Given the description of an element on the screen output the (x, y) to click on. 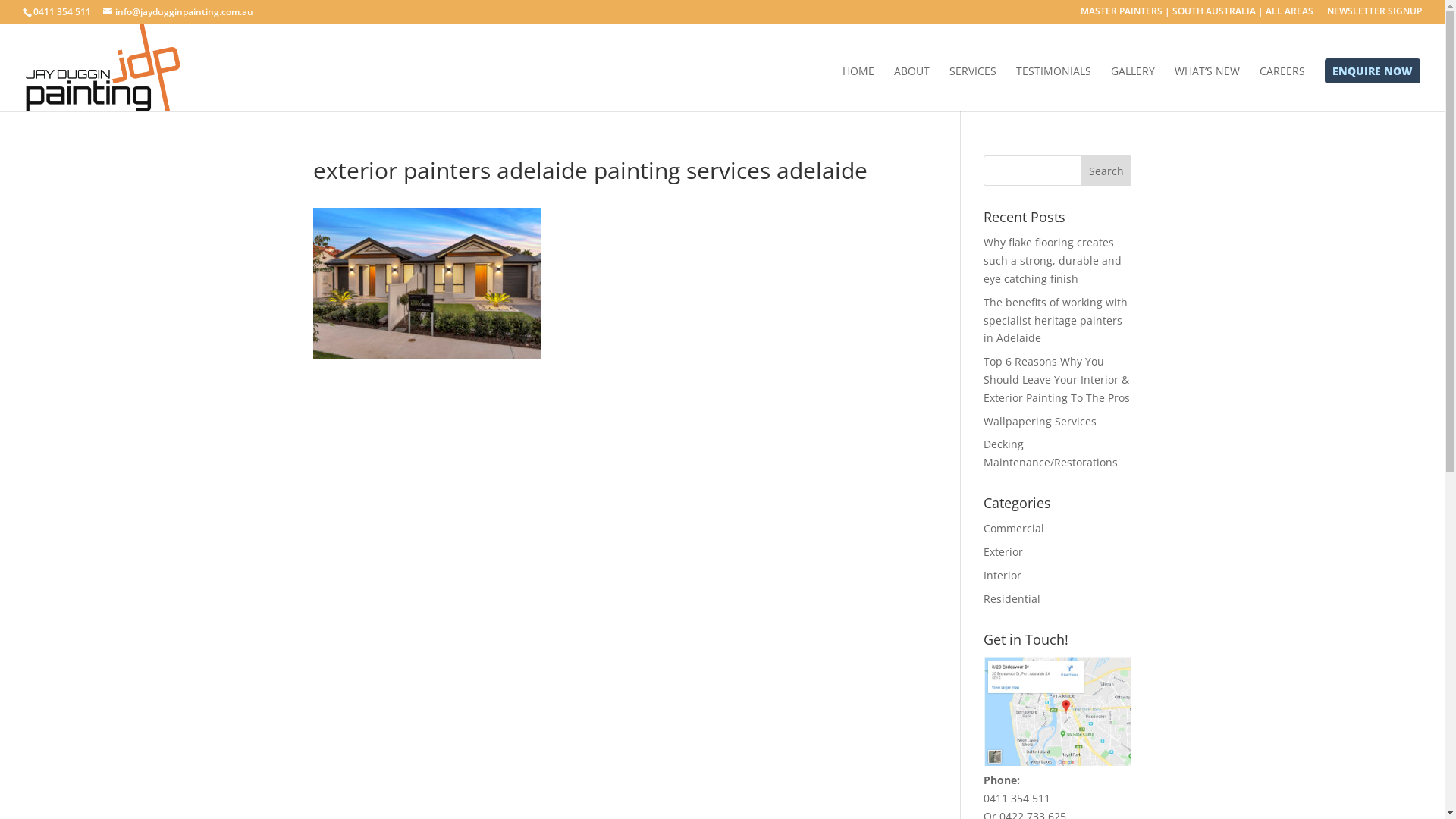
ENQUIRE NOW Element type: text (1372, 88)
info@jaydugginpainting.com.au Element type: text (178, 11)
HOME Element type: text (858, 88)
GALLERY Element type: text (1132, 88)
Decking Maintenance/Restorations Element type: text (1050, 452)
Exterior Element type: text (1002, 551)
MASTER PAINTERS | SOUTH AUSTRALIA | ALL AREAS Element type: text (1196, 14)
Residential Element type: text (1011, 598)
TESTIMONIALS Element type: text (1053, 88)
NEWSLETTER SIGNUP Element type: text (1374, 14)
Commercial Element type: text (1013, 527)
ABOUT Element type: text (911, 88)
CAREERS Element type: text (1282, 88)
Interior Element type: text (1002, 574)
SERVICES Element type: text (972, 88)
Search Element type: text (1106, 170)
Wallpapering Services Element type: text (1039, 421)
